Given the description of an element on the screen output the (x, y) to click on. 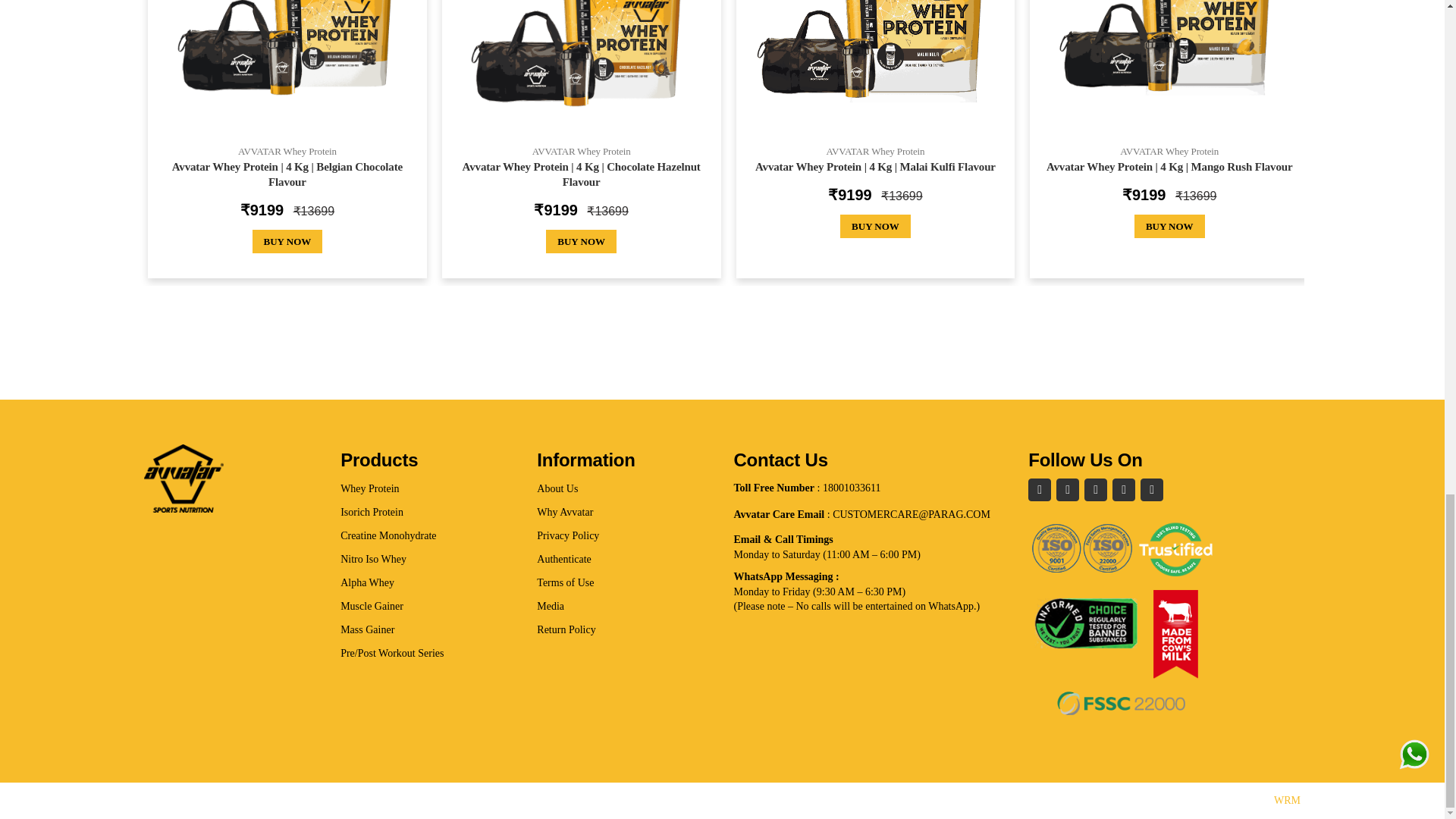
Twitter (1067, 489)
Youtube (1123, 489)
Instagram (1095, 489)
Facebook (1039, 489)
whatsapp (1151, 489)
